Given the description of an element on the screen output the (x, y) to click on. 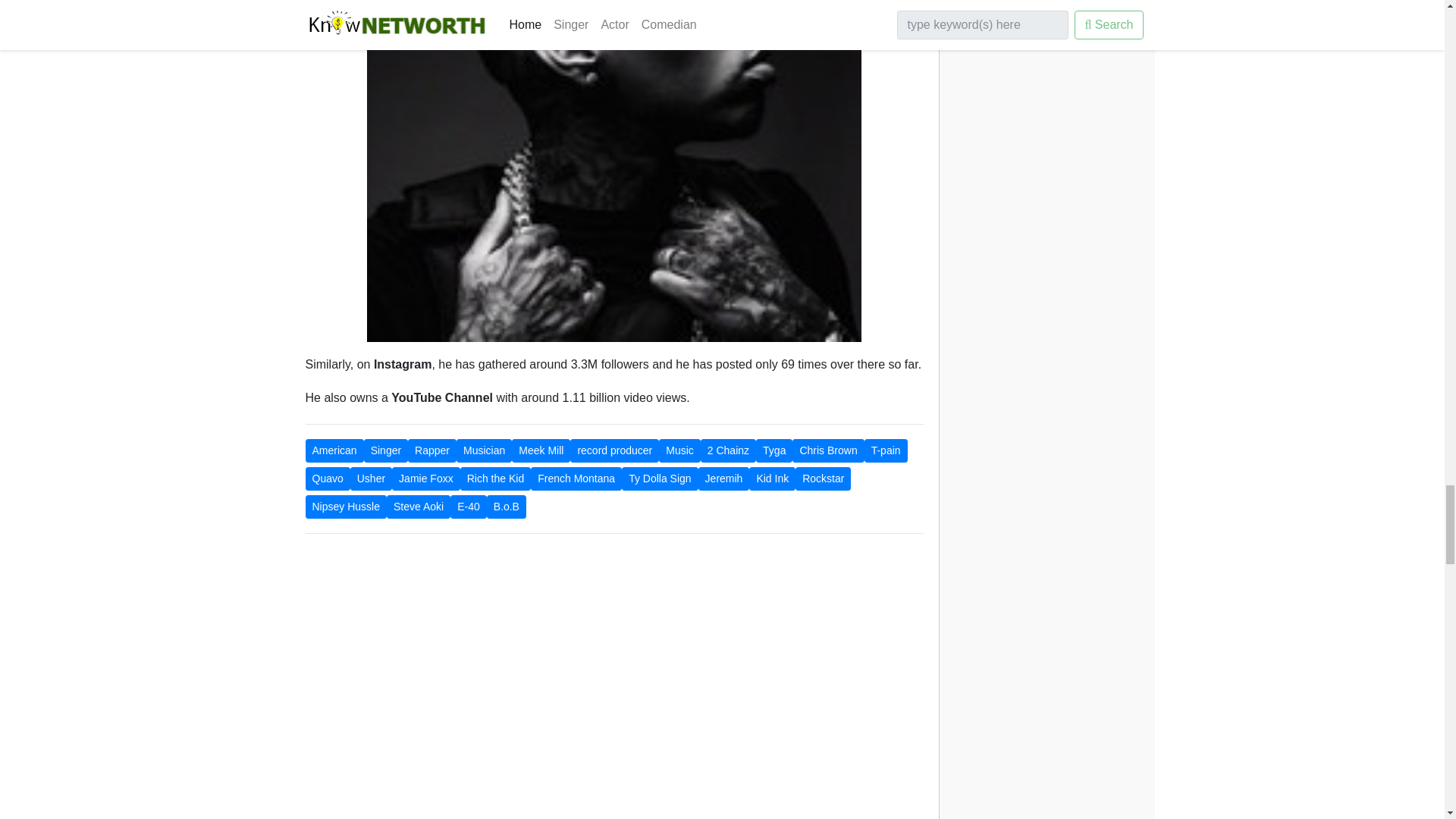
Music (679, 450)
2 Chainz (727, 450)
Rapper (432, 450)
Singer (385, 450)
Meek Mill (541, 450)
Musician (484, 450)
record producer (614, 450)
American (333, 450)
